Given the description of an element on the screen output the (x, y) to click on. 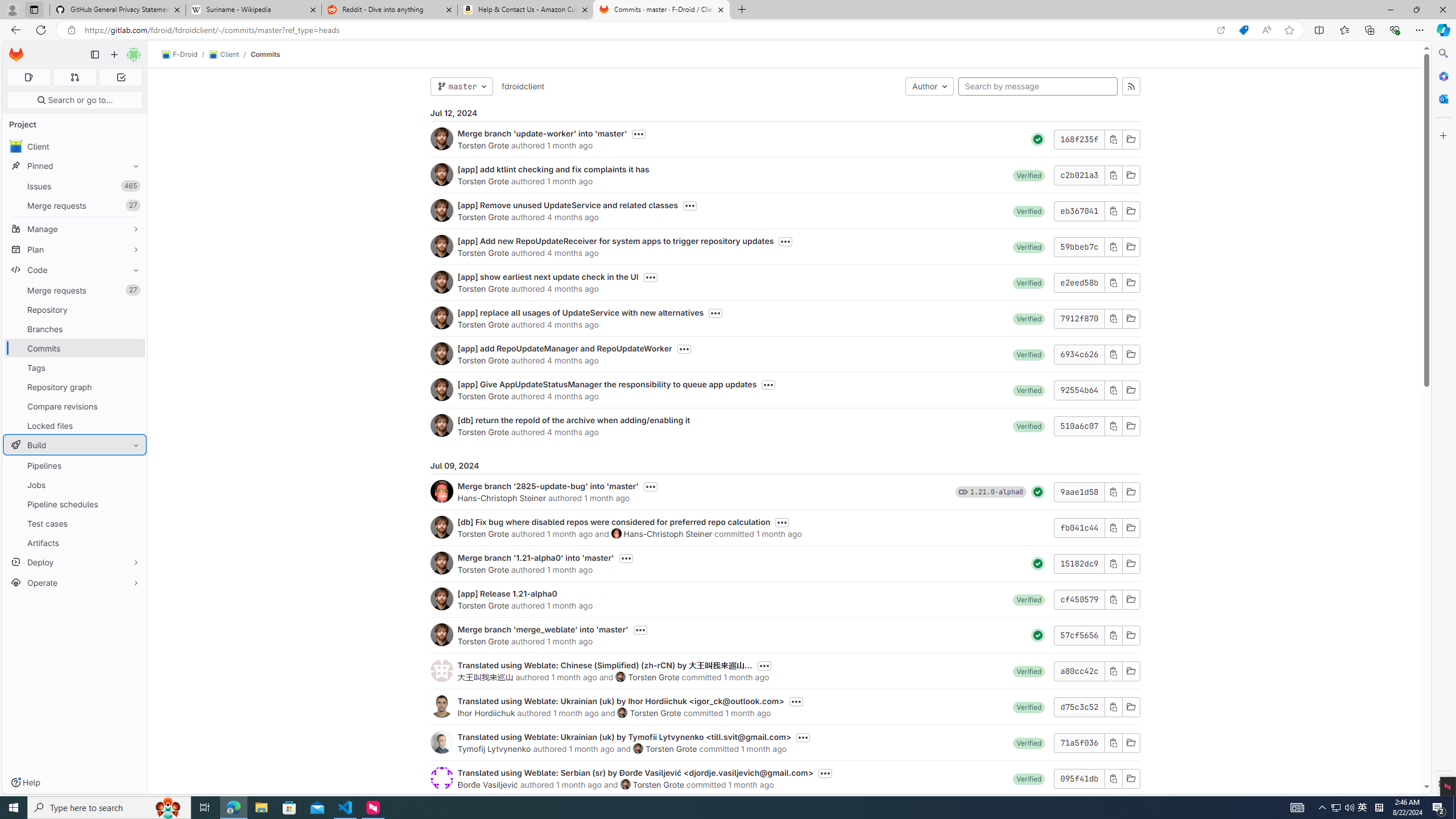
Commits feed (1130, 85)
1.21.0-alpha0 (996, 491)
To-Do list 0 (120, 76)
Artifacts (74, 542)
Pin Pipelines (132, 465)
Pinned (74, 165)
Hans-Christoph Steiner's avatar (616, 533)
Commits (265, 53)
fdroidclient (522, 85)
